Given the description of an element on the screen output the (x, y) to click on. 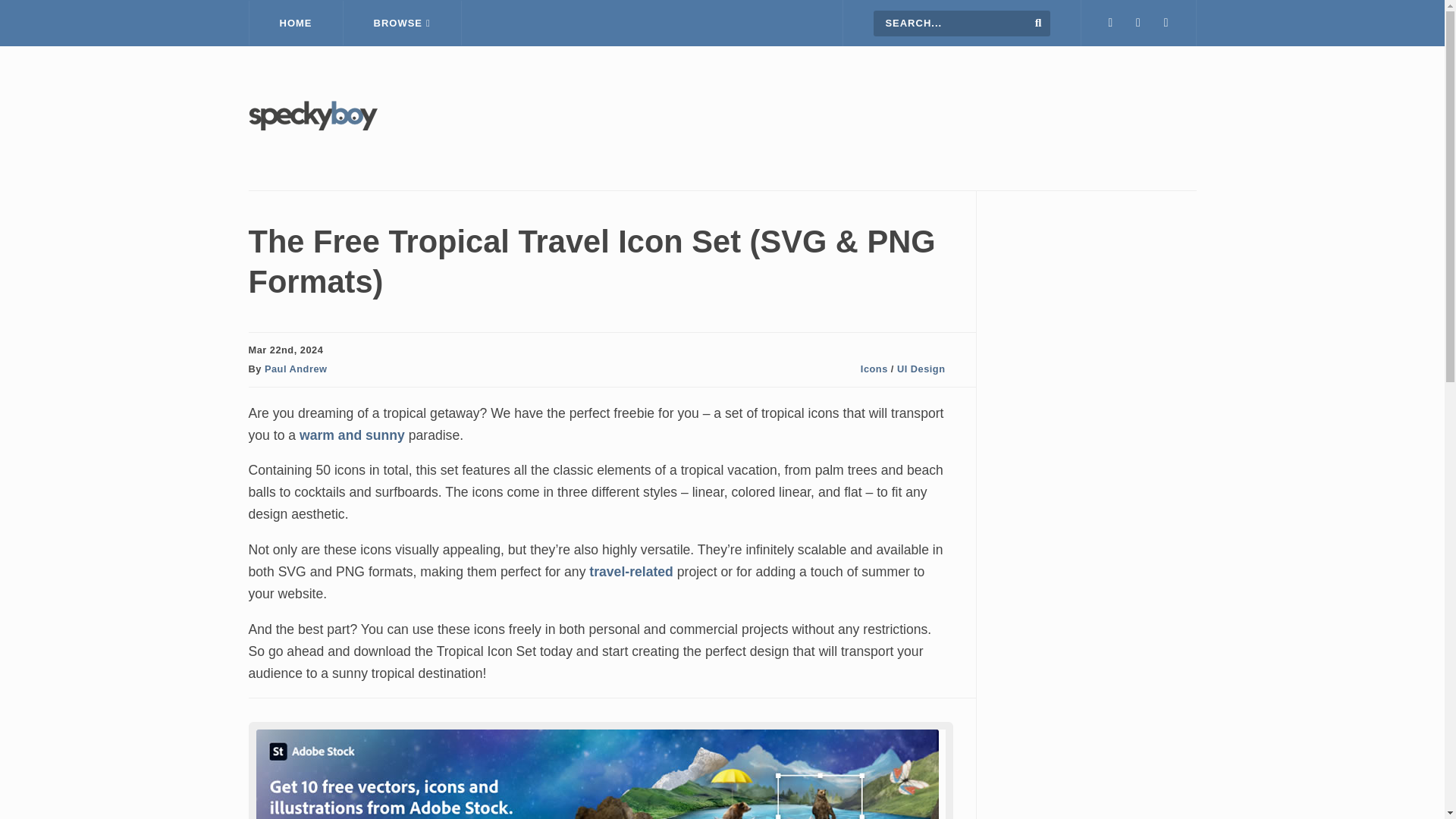
OUR FACEBOOK PAGE (1138, 23)
OUR TWITTER PAGE (1110, 23)
Speckyboy Design Magazine (312, 125)
Posts by Paul Andrew (295, 368)
BROWSE (401, 22)
HOME (295, 22)
Search (1038, 22)
RSS FEED (1166, 23)
